Given the description of an element on the screen output the (x, y) to click on. 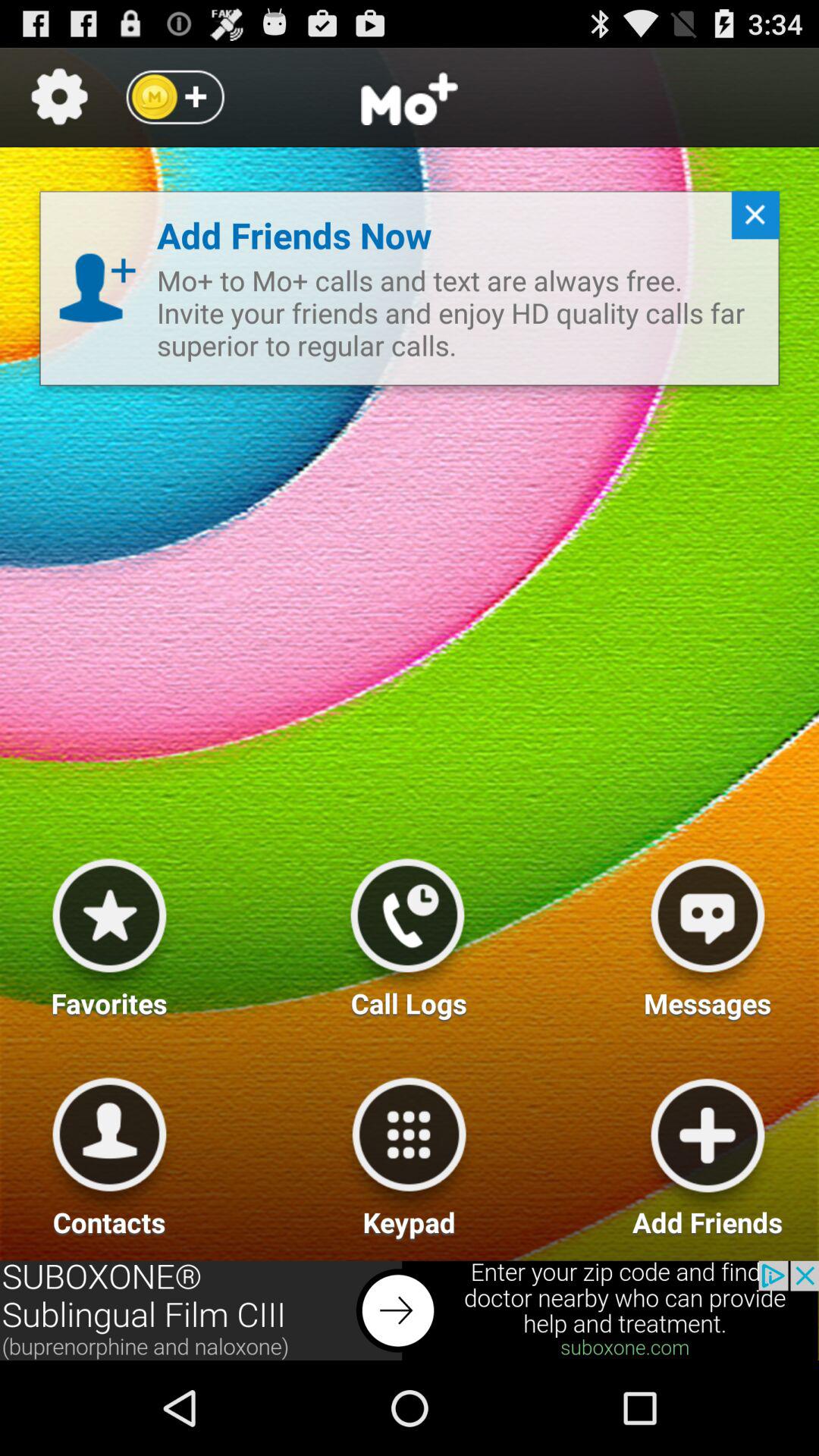
setting option (59, 97)
